Given the description of an element on the screen output the (x, y) to click on. 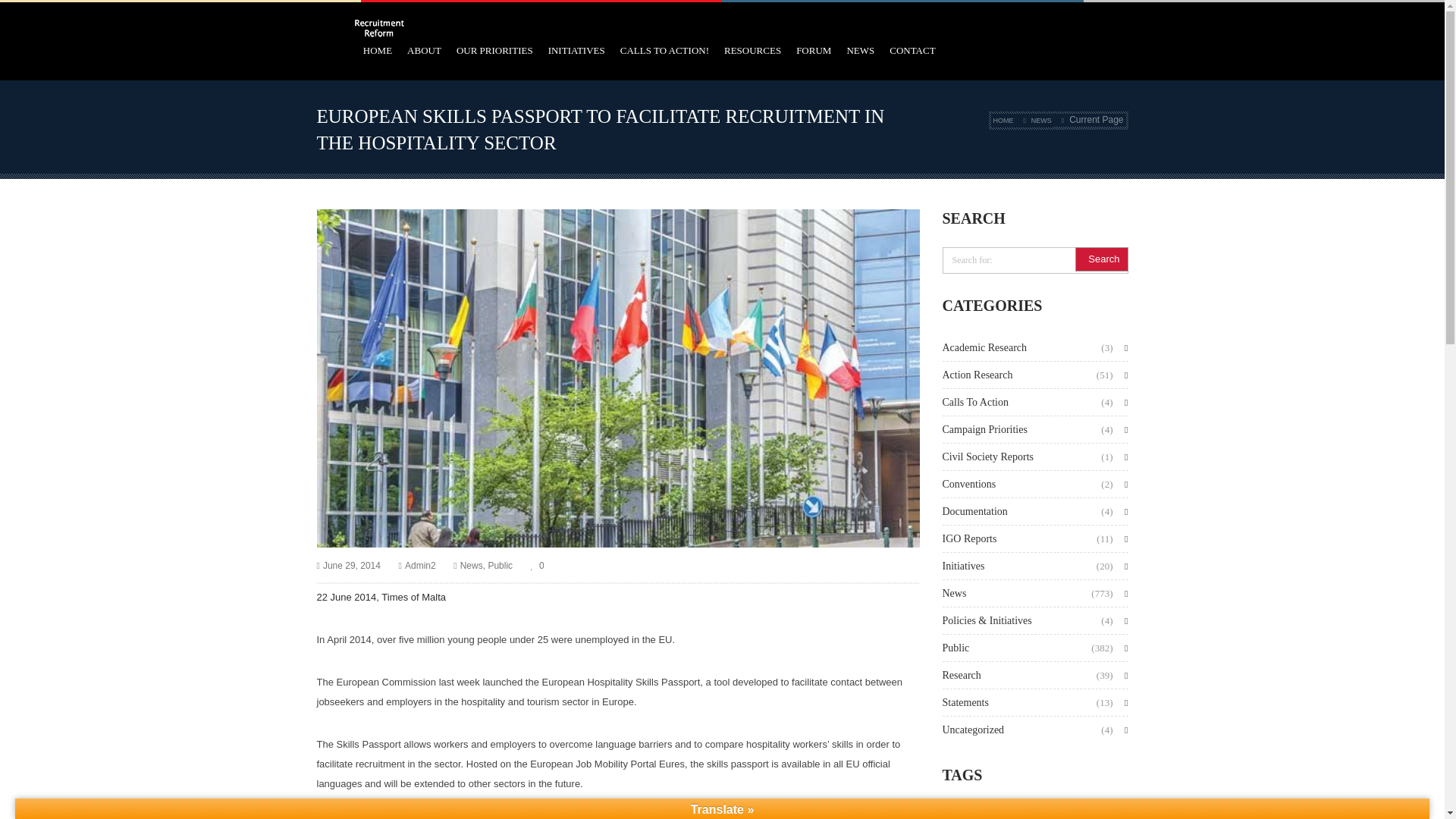
Search (1100, 259)
HOME (1002, 120)
Search for: (1034, 260)
Admin2 (419, 565)
RESOURCES (751, 50)
Public (499, 565)
22 June 2014, Times of Malta (381, 596)
ABOUT (424, 50)
FORUM (813, 50)
OUR PRIORITIES (494, 50)
